Given the description of an element on the screen output the (x, y) to click on. 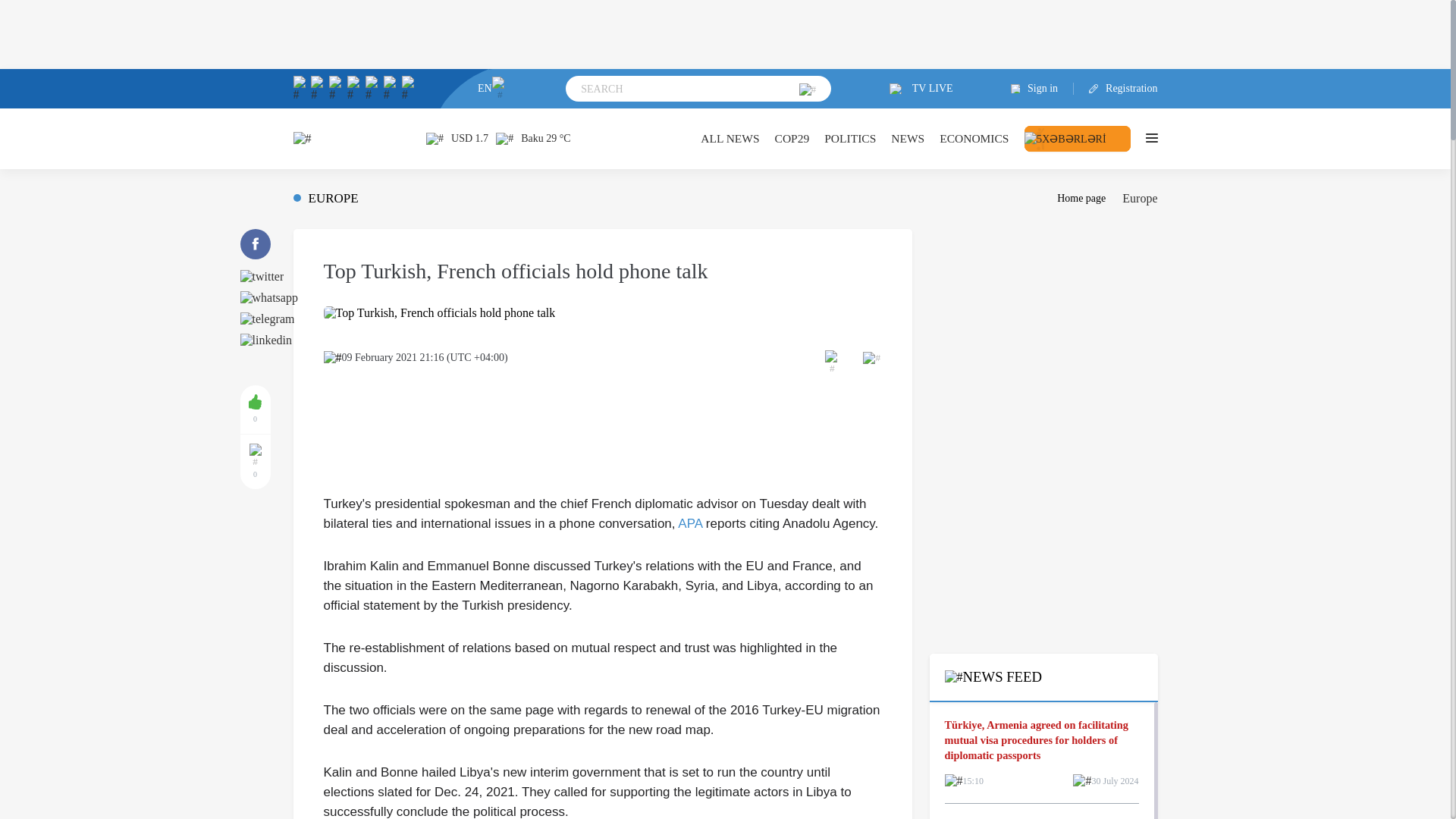
Registration (1115, 88)
Sign in (1042, 88)
COP29 (791, 138)
ALL NEWS (729, 138)
TV LIVE (921, 88)
NEWS (907, 138)
POLITICS (850, 138)
ECONOMICS (974, 138)
USD 1.7 (456, 138)
